Given the description of an element on the screen output the (x, y) to click on. 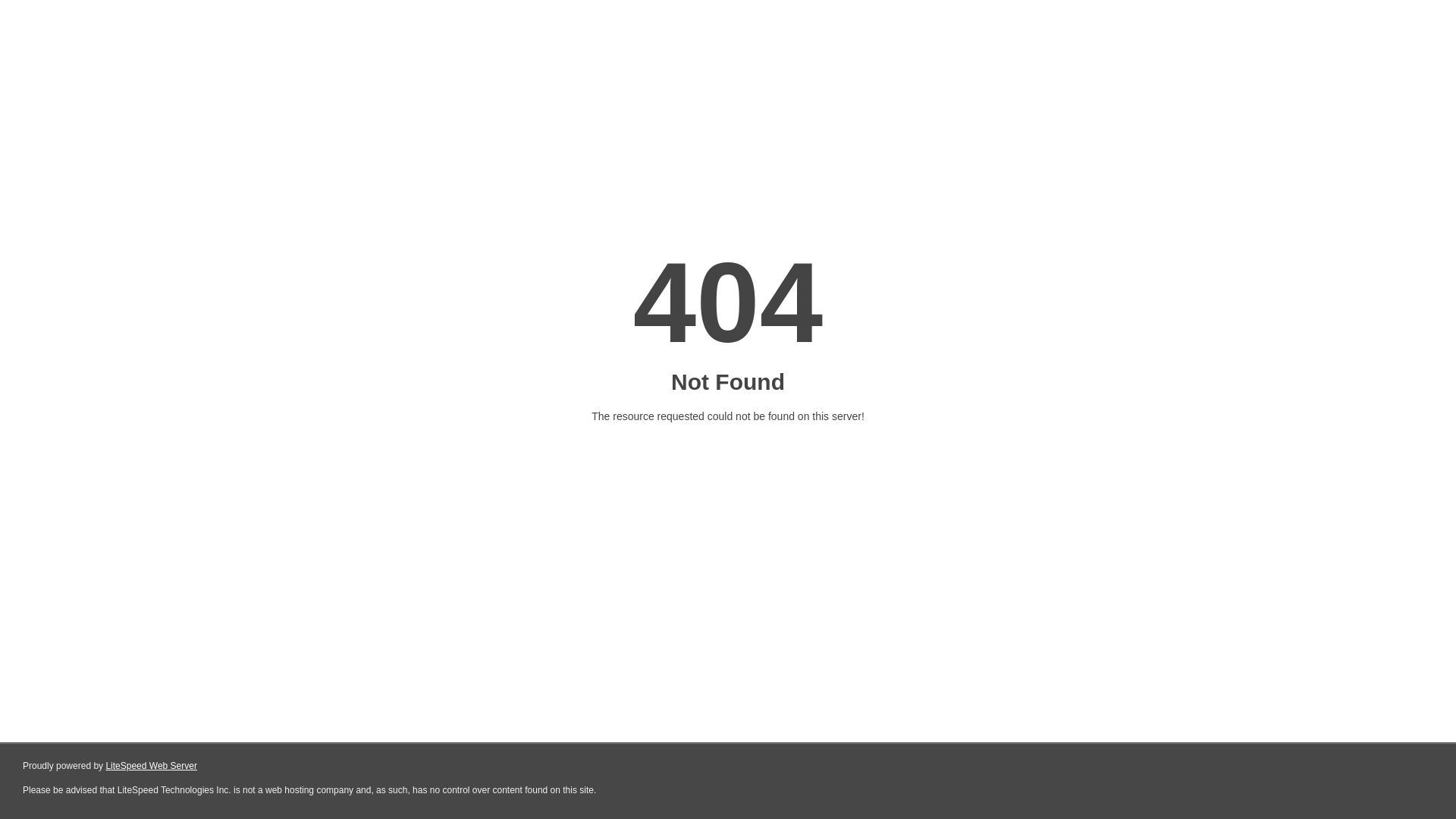
LiteSpeed Web Server Element type: text (151, 765)
